Given the description of an element on the screen output the (x, y) to click on. 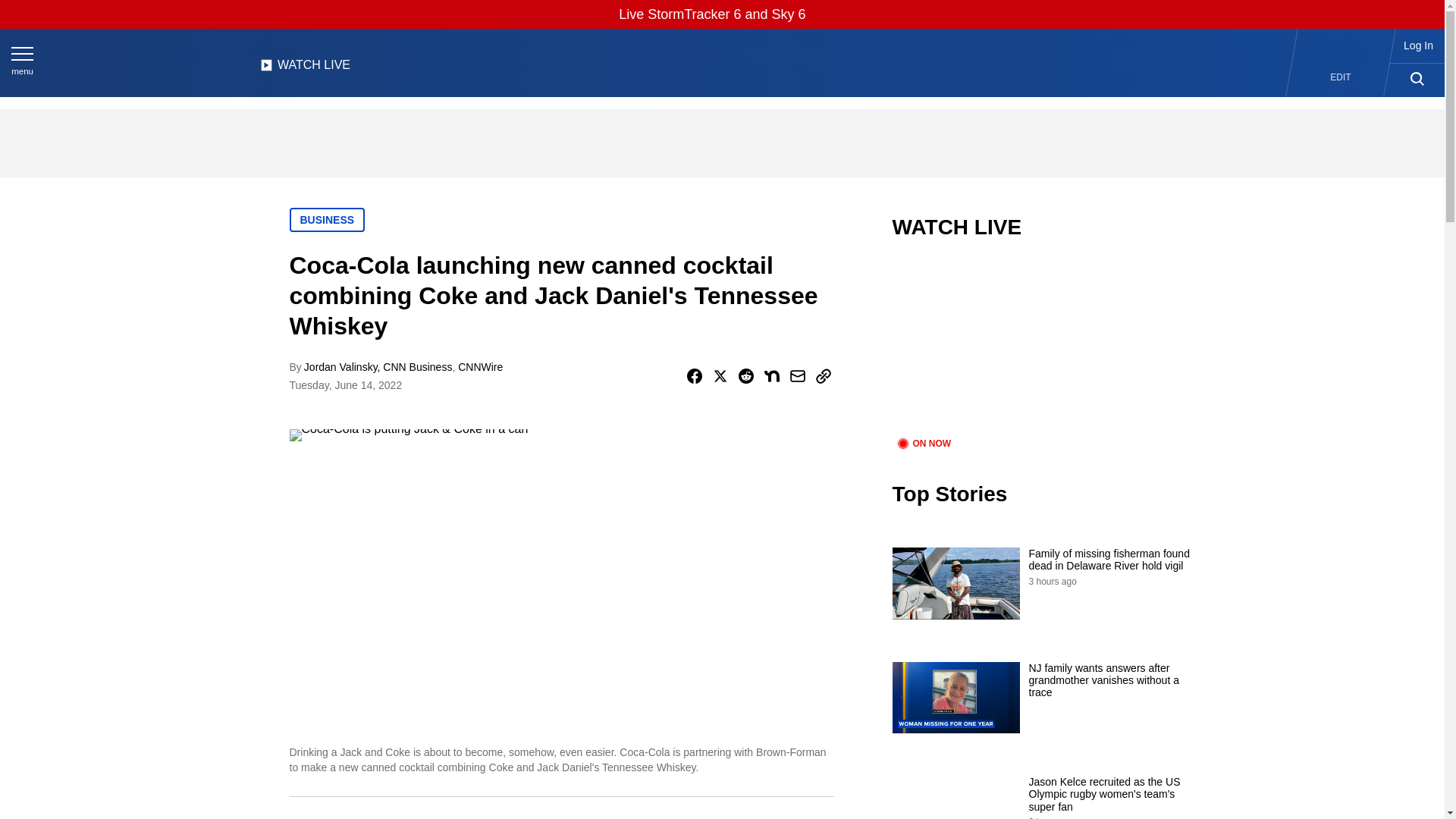
video.title (1043, 347)
EDIT (1340, 77)
WATCH LIVE (305, 69)
